Given the description of an element on the screen output the (x, y) to click on. 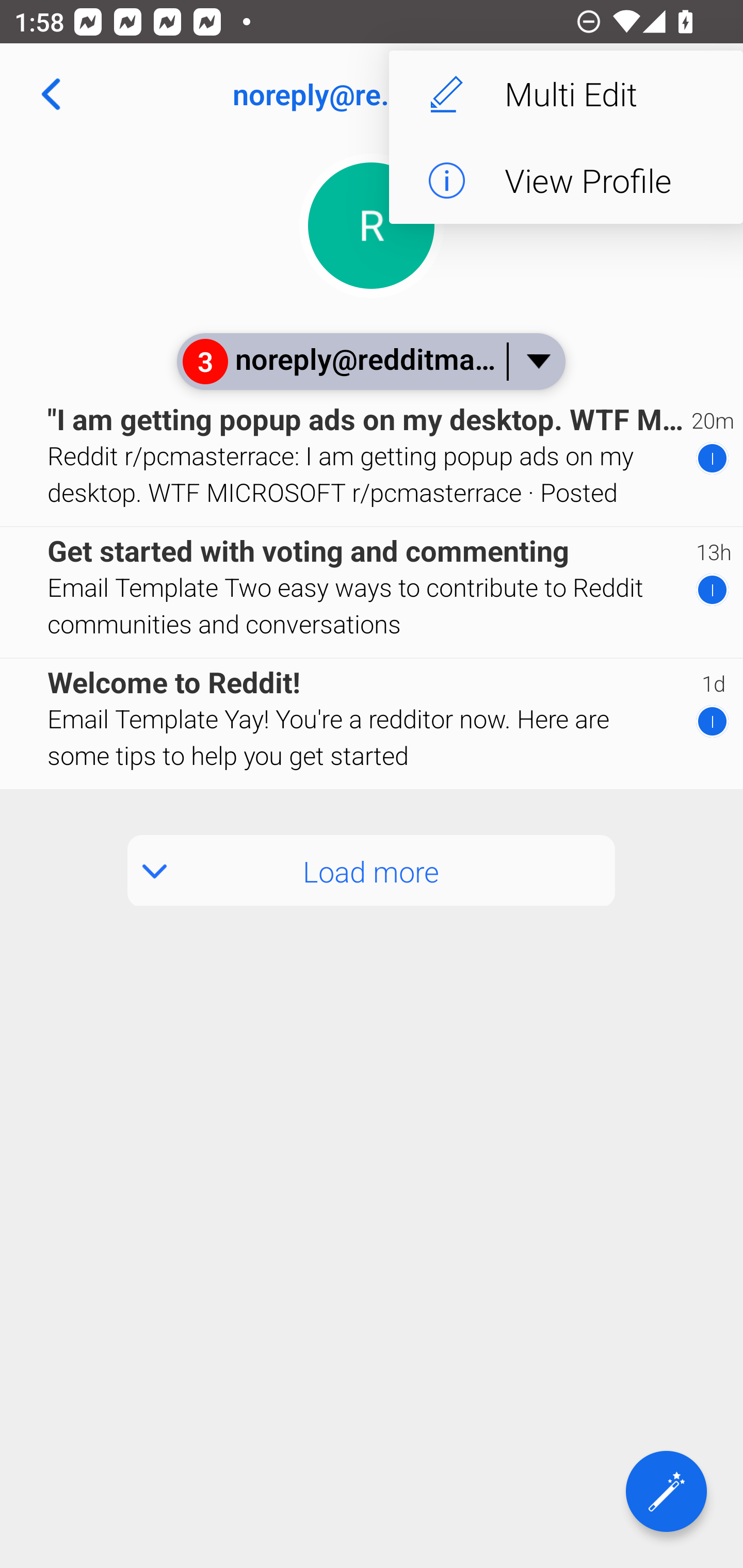
Multi Edit (566, 93)
View Profile (566, 180)
